Given the description of an element on the screen output the (x, y) to click on. 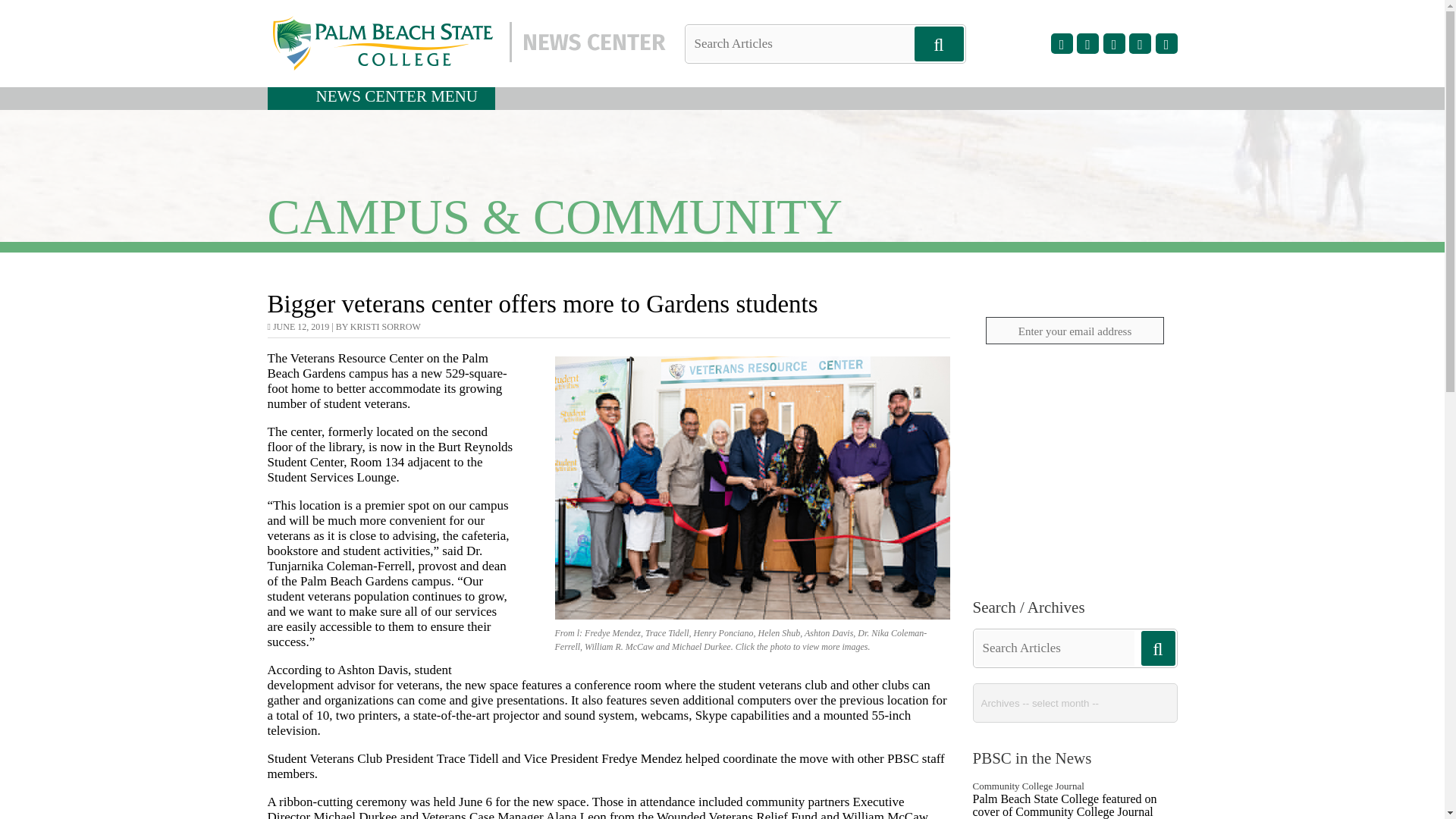
Posts by Kristi Sorrow (385, 326)
KRISTI SORROW (385, 326)
Subscribe (1074, 368)
SUBMIT YOUR NEWS (1074, 541)
Subscribe (1074, 368)
Search (38, 11)
